Given the description of an element on the screen output the (x, y) to click on. 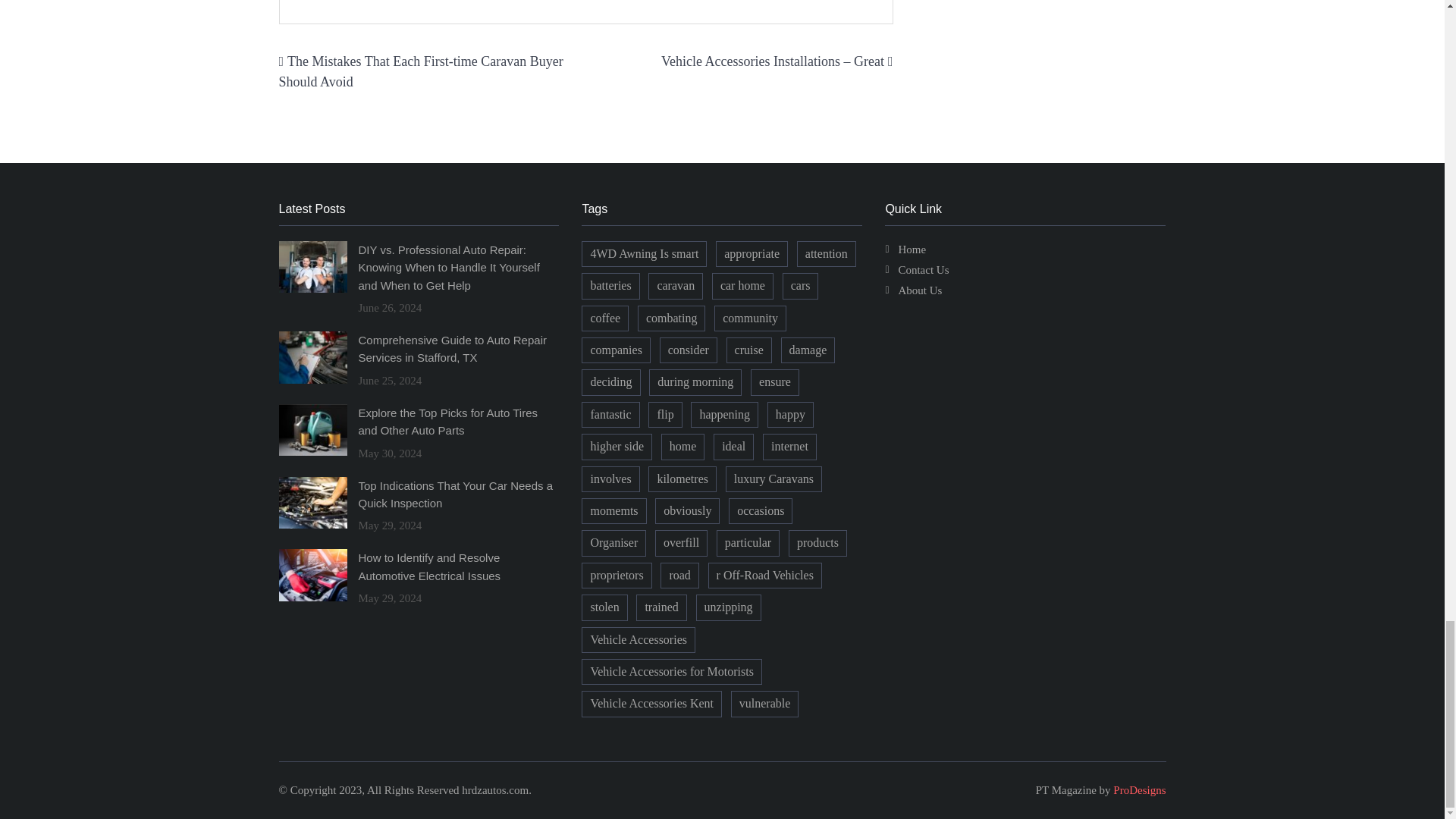
The Mistakes That Each First-time Caravan Buyer Should Avoid (421, 71)
